Given the description of an element on the screen output the (x, y) to click on. 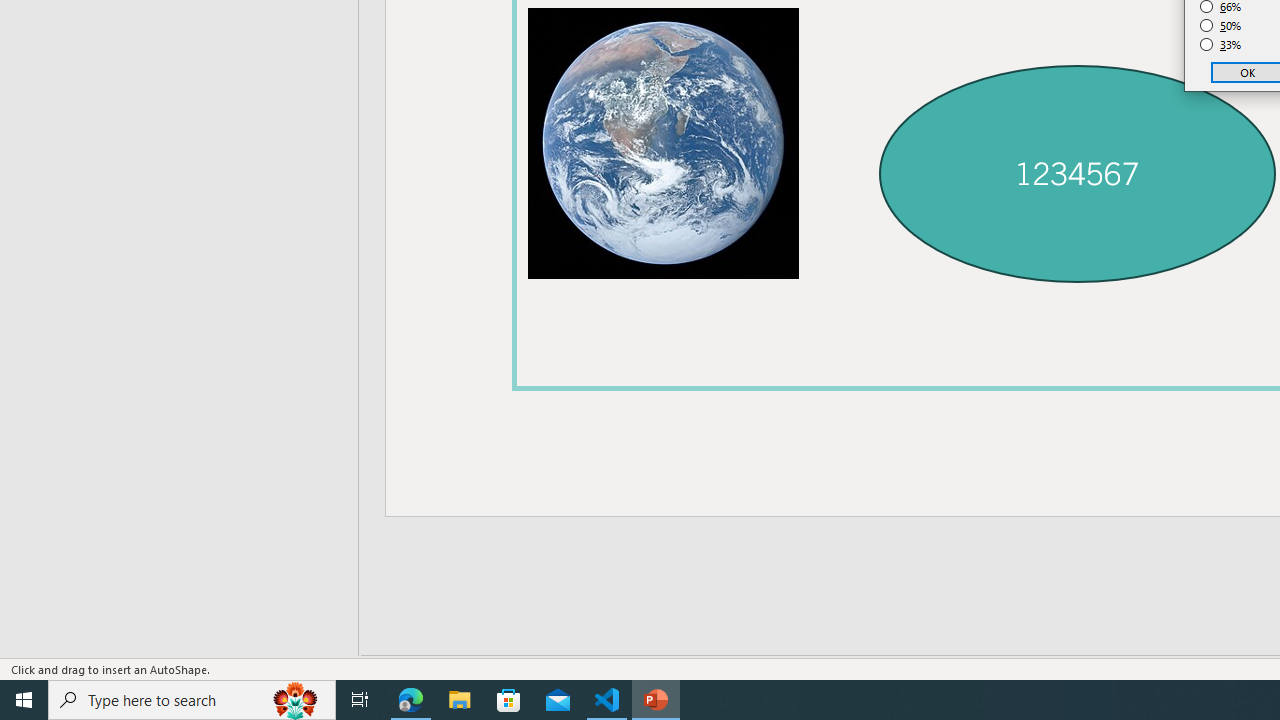
33% (1221, 44)
50% (1221, 25)
